Given the description of an element on the screen output the (x, y) to click on. 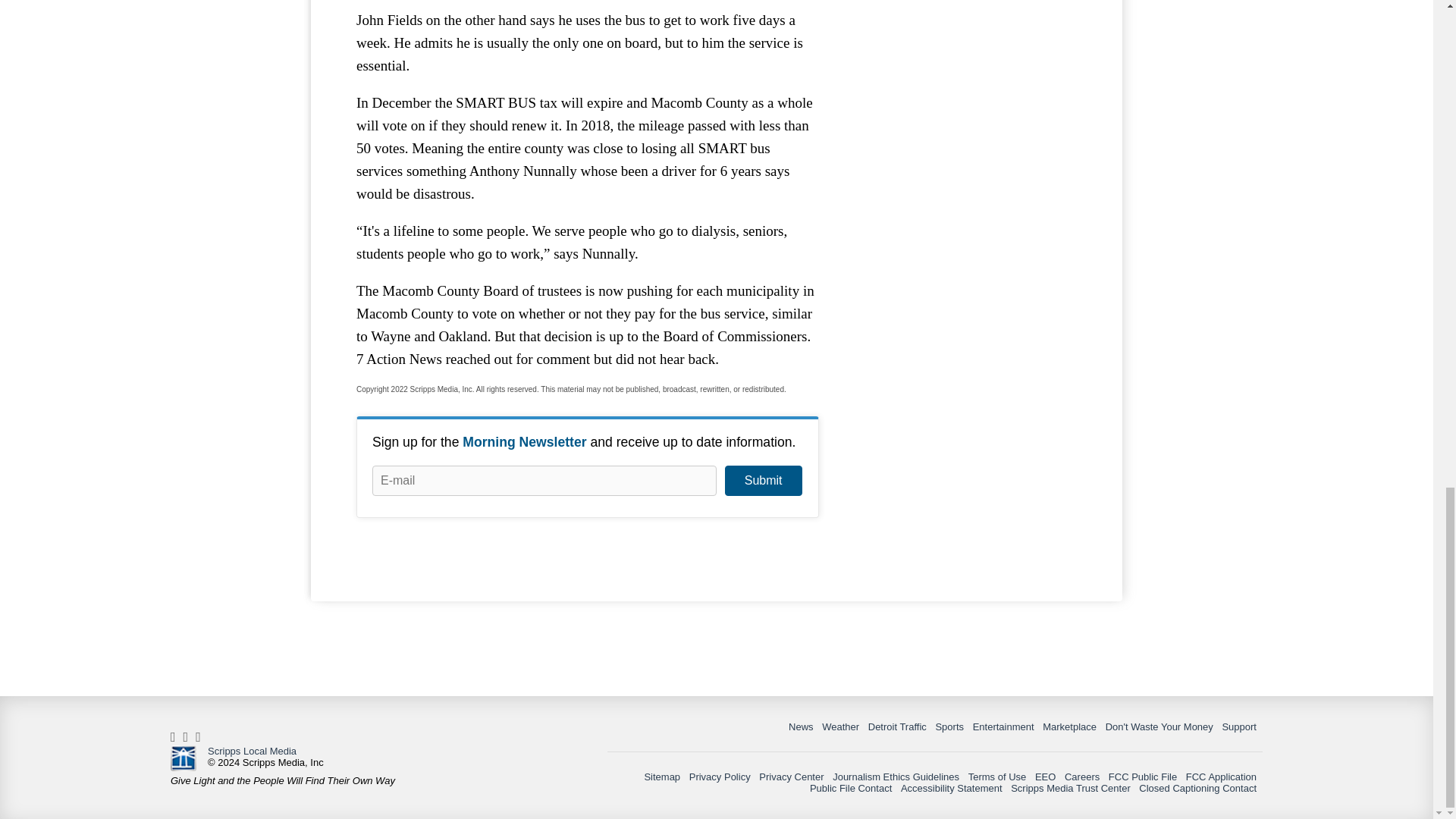
Submit (763, 481)
